Given the description of an element on the screen output the (x, y) to click on. 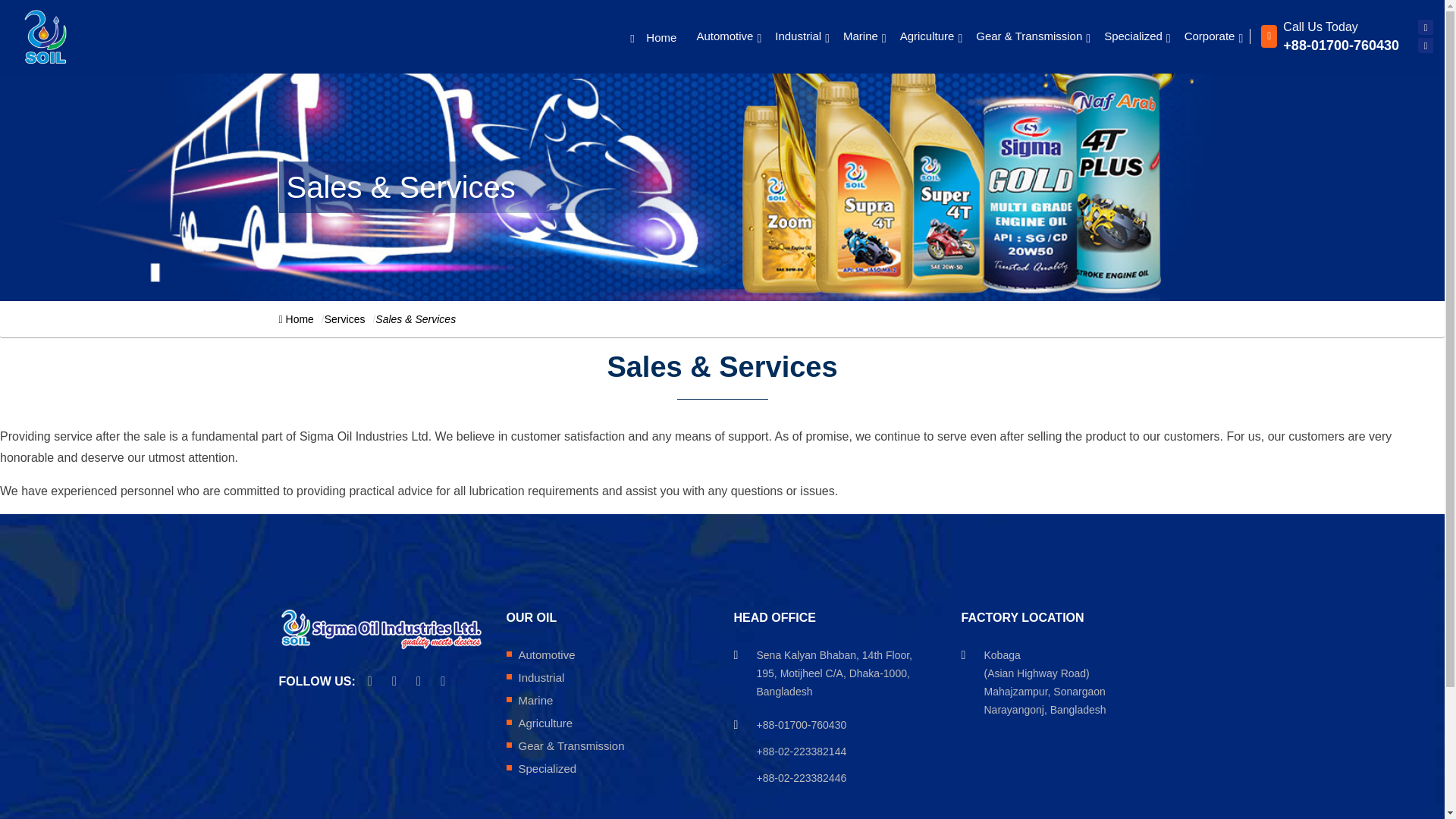
Industrial (801, 35)
Call Us Now (802, 782)
Call Us Now (802, 755)
Automotive (728, 35)
Call Us Now (802, 728)
